Given the description of an element on the screen output the (x, y) to click on. 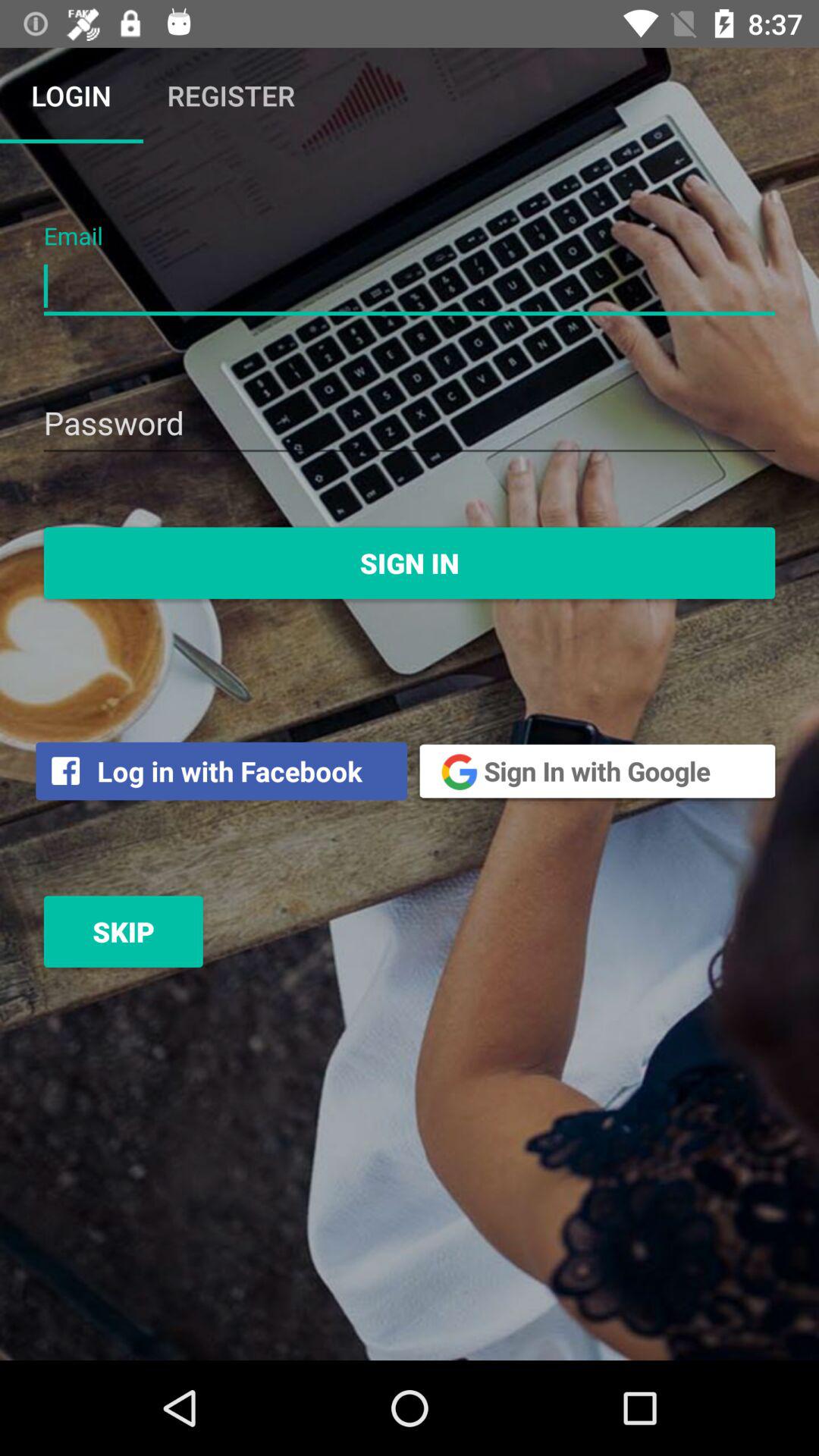
enter email (409, 286)
